Given the description of an element on the screen output the (x, y) to click on. 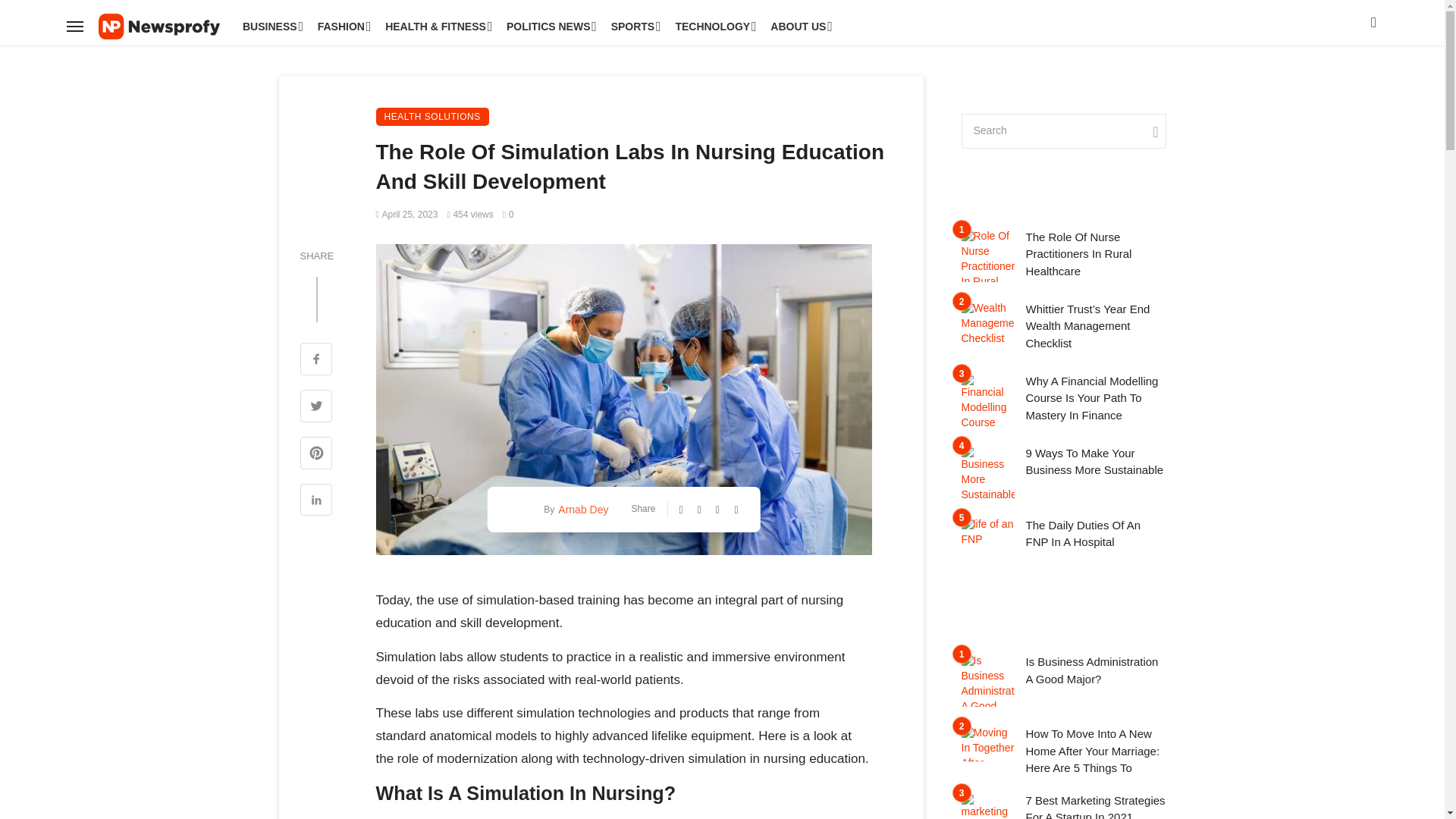
SPORTS (634, 26)
0 Comments (507, 214)
Share on Facebook (316, 361)
BUSINESS (270, 26)
Share on Linkedin (316, 502)
Share on Pinterest (316, 454)
POLITICS NEWS (549, 26)
April 25, 2023 at 7:09 am (406, 214)
TECHNOLOGY (713, 26)
Posts by Arnab Dey (581, 509)
